Given the description of an element on the screen output the (x, y) to click on. 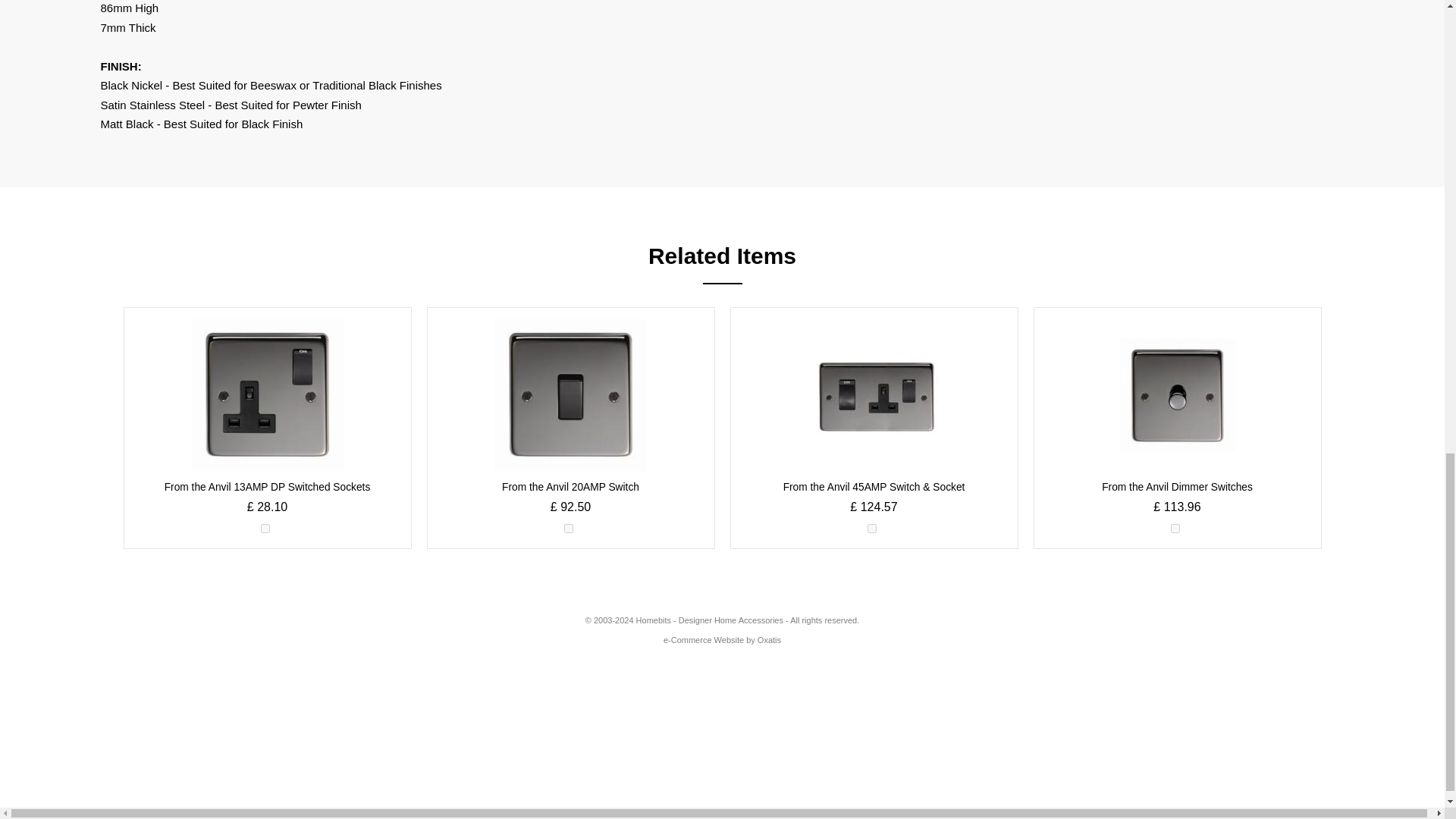
26044881 (568, 528)
26045088 (264, 528)
26046483 (871, 528)
26046854 (1174, 528)
